Given the description of an element on the screen output the (x, y) to click on. 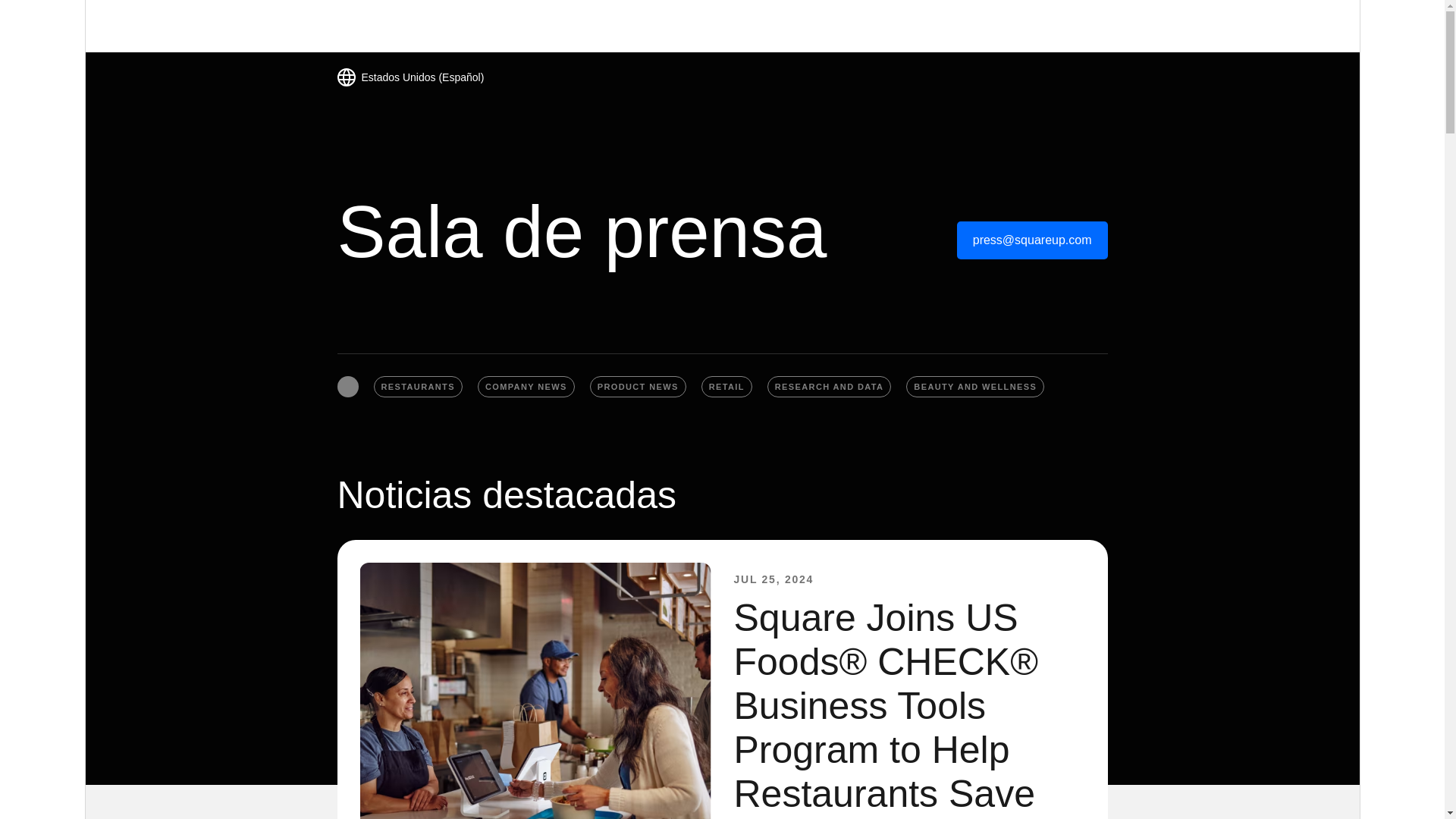
PRODUCT NEWS (637, 386)
RETAIL (726, 386)
RESTAURANTS (416, 386)
COMPANY NEWS (526, 386)
RESEARCH AND DATA (829, 386)
BEAUTY AND WELLNESS (974, 386)
